Given the description of an element on the screen output the (x, y) to click on. 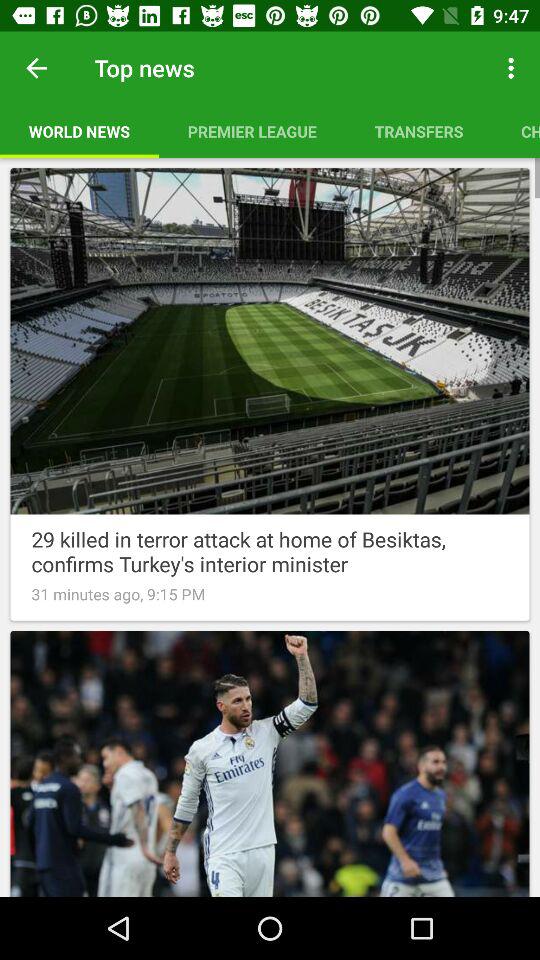
click the icon next to top news (36, 68)
